Given the description of an element on the screen output the (x, y) to click on. 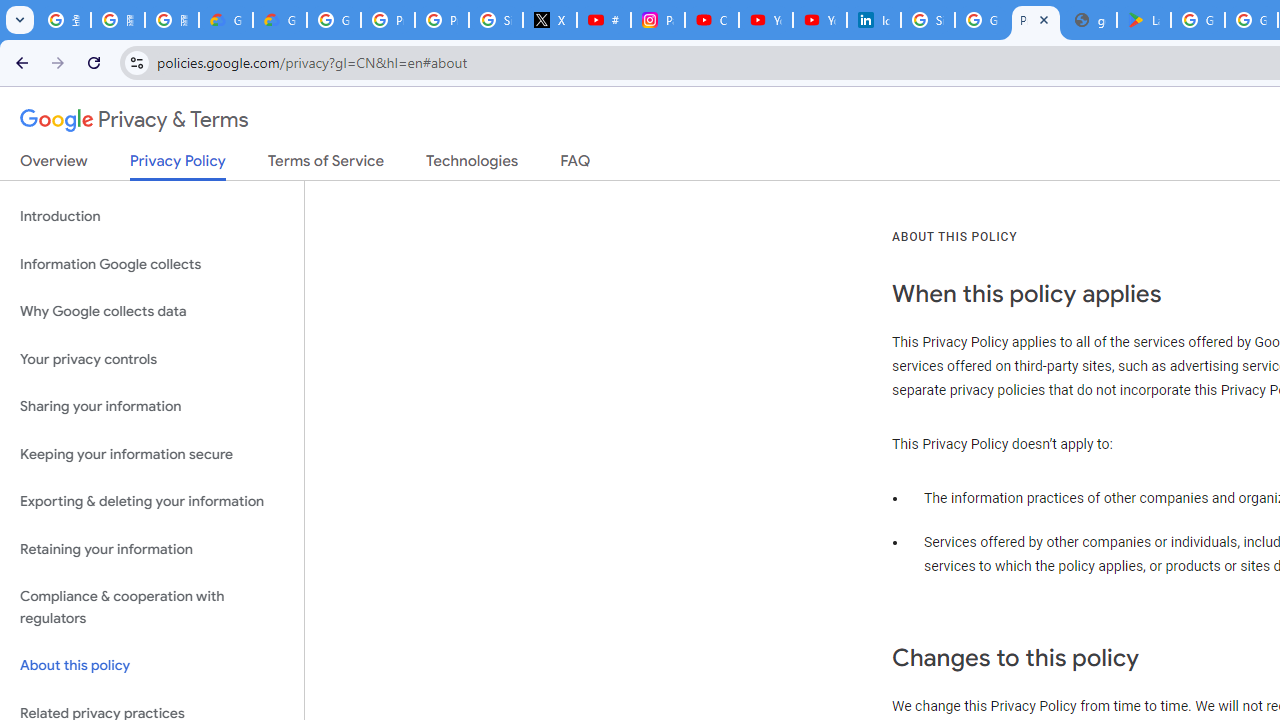
Sign in - Google Accounts (927, 20)
